Given the description of an element on the screen output the (x, y) to click on. 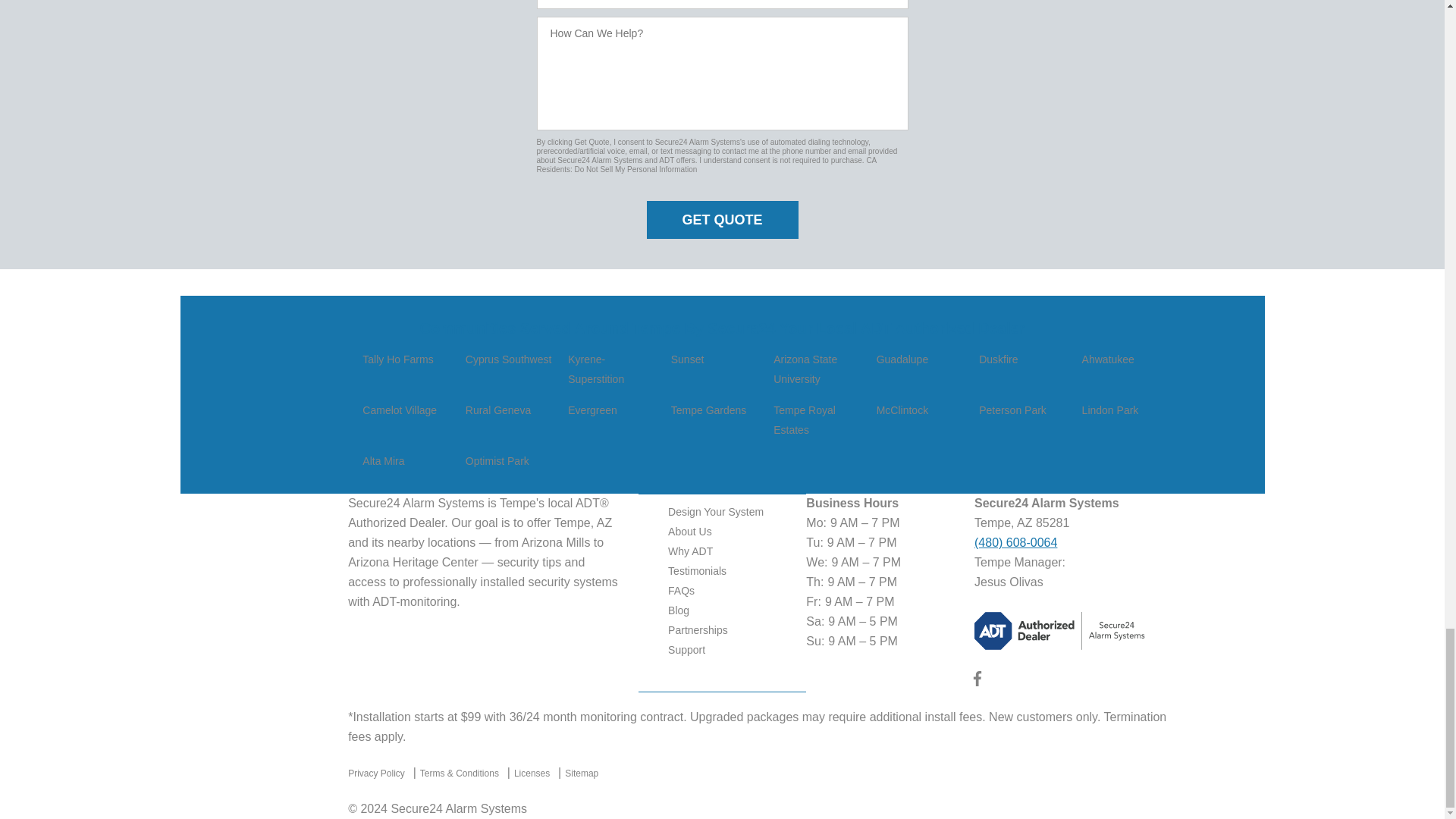
GET QUOTE (721, 219)
Like us on Facebook (977, 681)
